Given the description of an element on the screen output the (x, y) to click on. 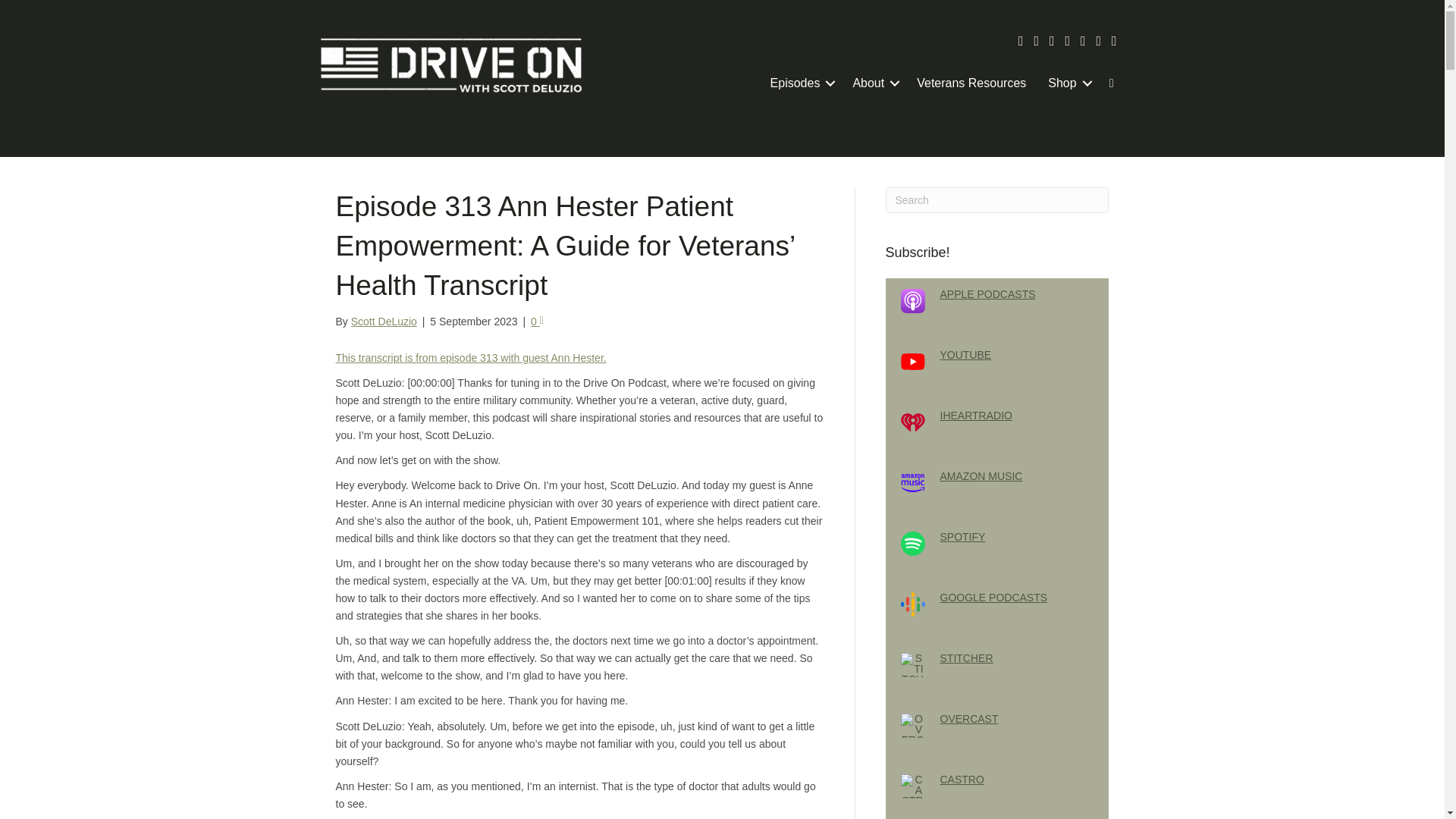
This transcript is from episode 313 with guest Ann Hester. (469, 357)
Scott DeLuzio (383, 321)
Type and press Enter to search. (997, 199)
Drive On Podcast (450, 65)
0 (537, 321)
Episodes (800, 83)
About (873, 83)
Veterans Resources (970, 83)
Shop (1066, 83)
